Given the description of an element on the screen output the (x, y) to click on. 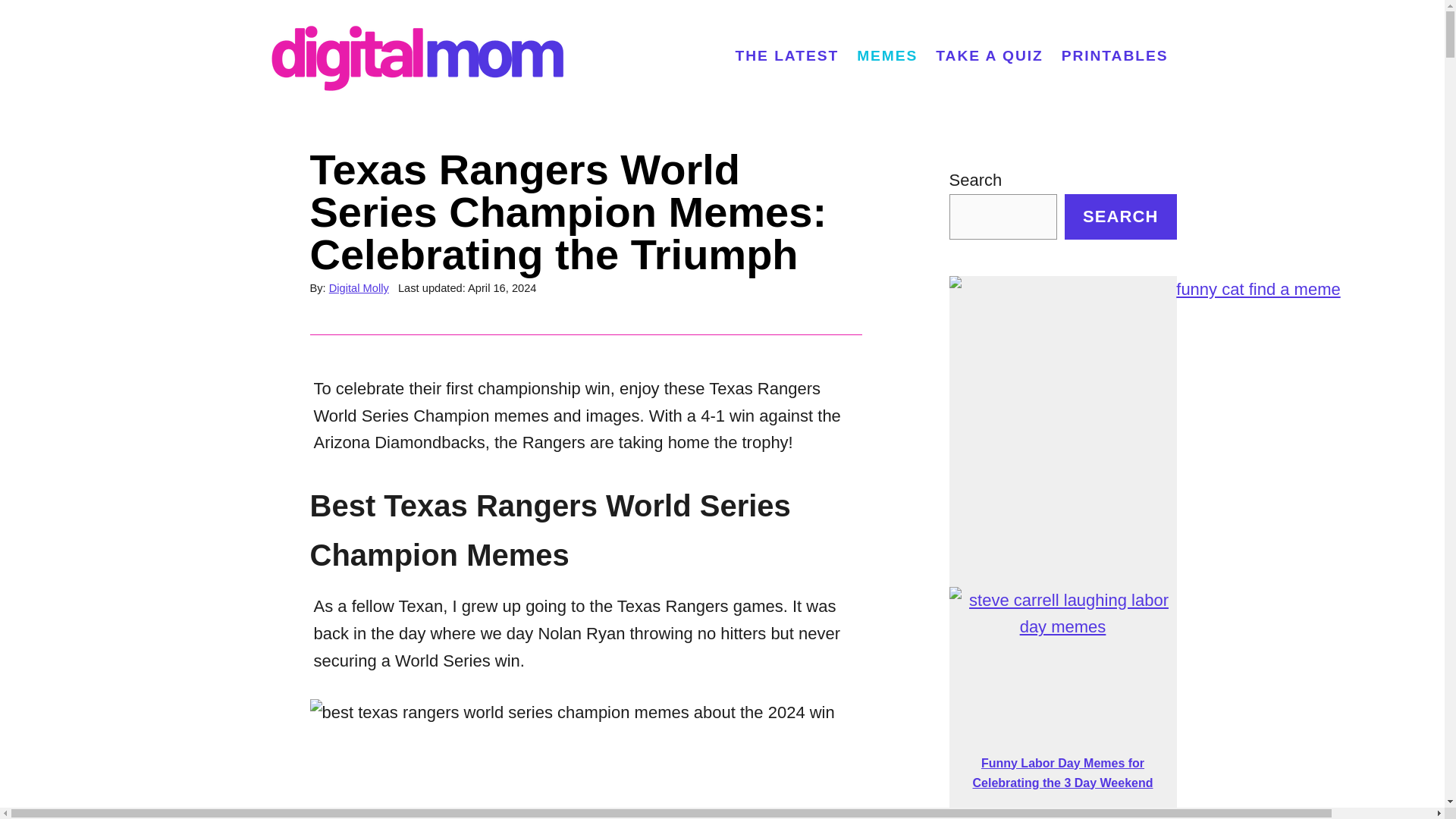
texas rangers world series champion memes (764, 759)
Digital Mom Blog (427, 56)
PRINTABLES (1114, 55)
SEARCH (1120, 216)
TAKE A QUIZ (988, 55)
Digital Molly (358, 287)
THE LATEST (787, 55)
MEMES (886, 55)
